Given the description of an element on the screen output the (x, y) to click on. 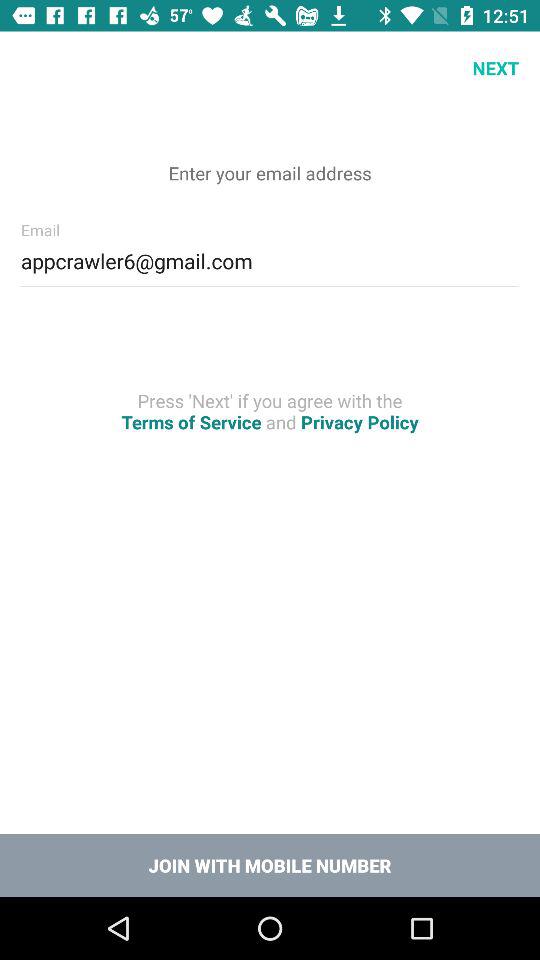
choose icon at the top left corner (36, 68)
